Given the description of an element on the screen output the (x, y) to click on. 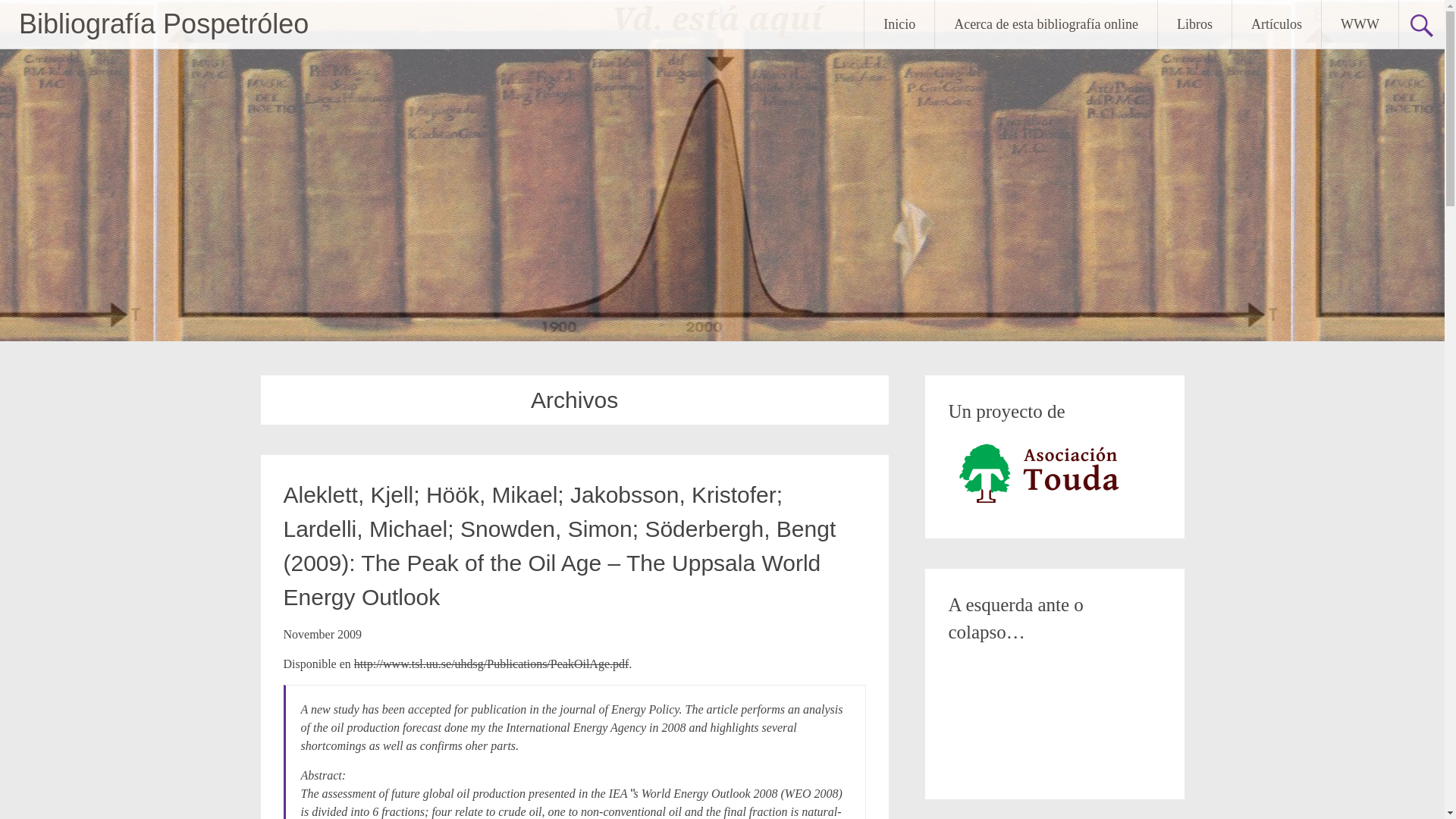
Buscar (26, 12)
Libros (1194, 24)
WWW (1359, 24)
Inicio (899, 24)
